Given the description of an element on the screen output the (x, y) to click on. 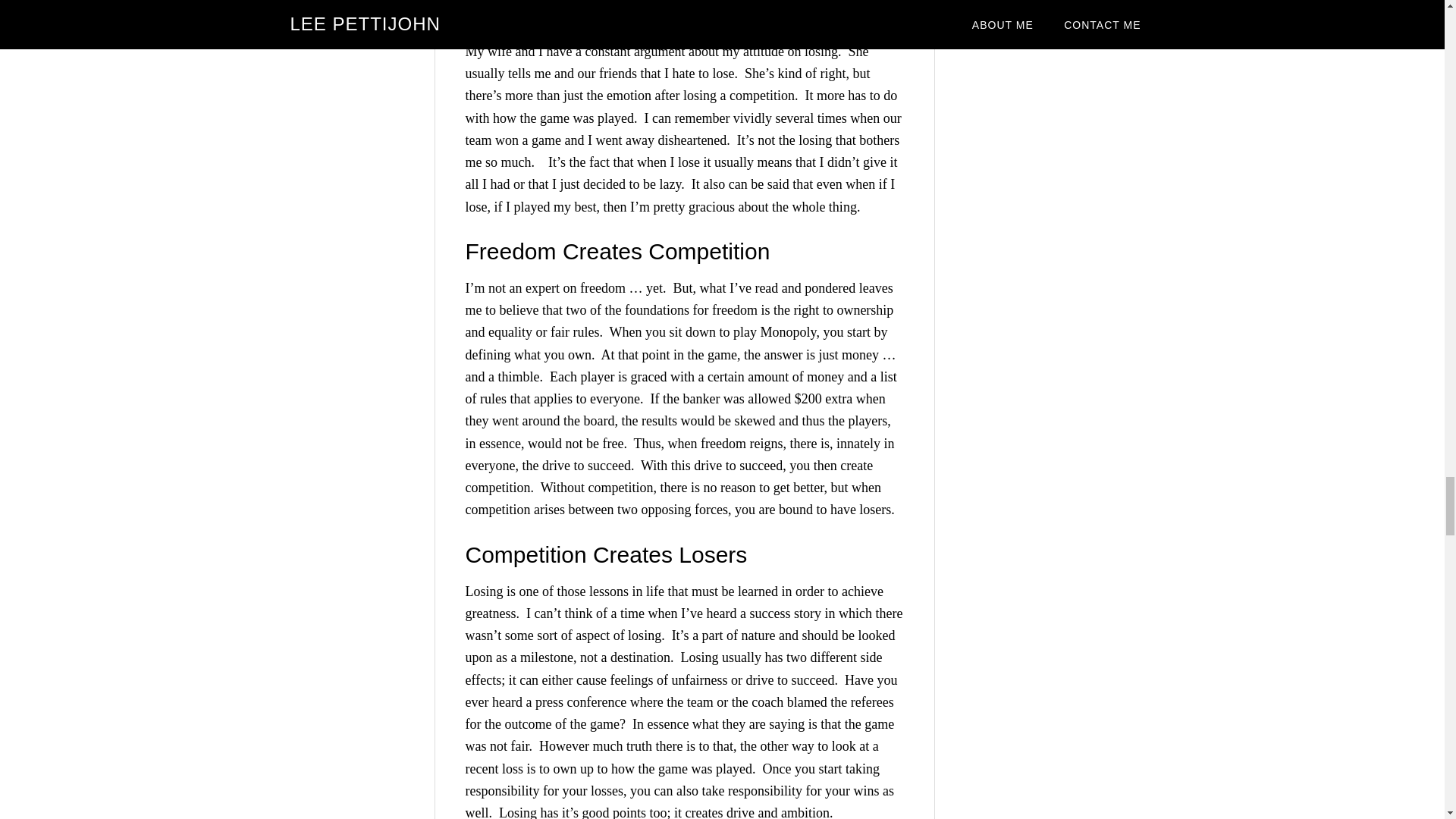
Leave a Comment (678, 11)
Lee Pettijohn (581, 11)
